Given the description of an element on the screen output the (x, y) to click on. 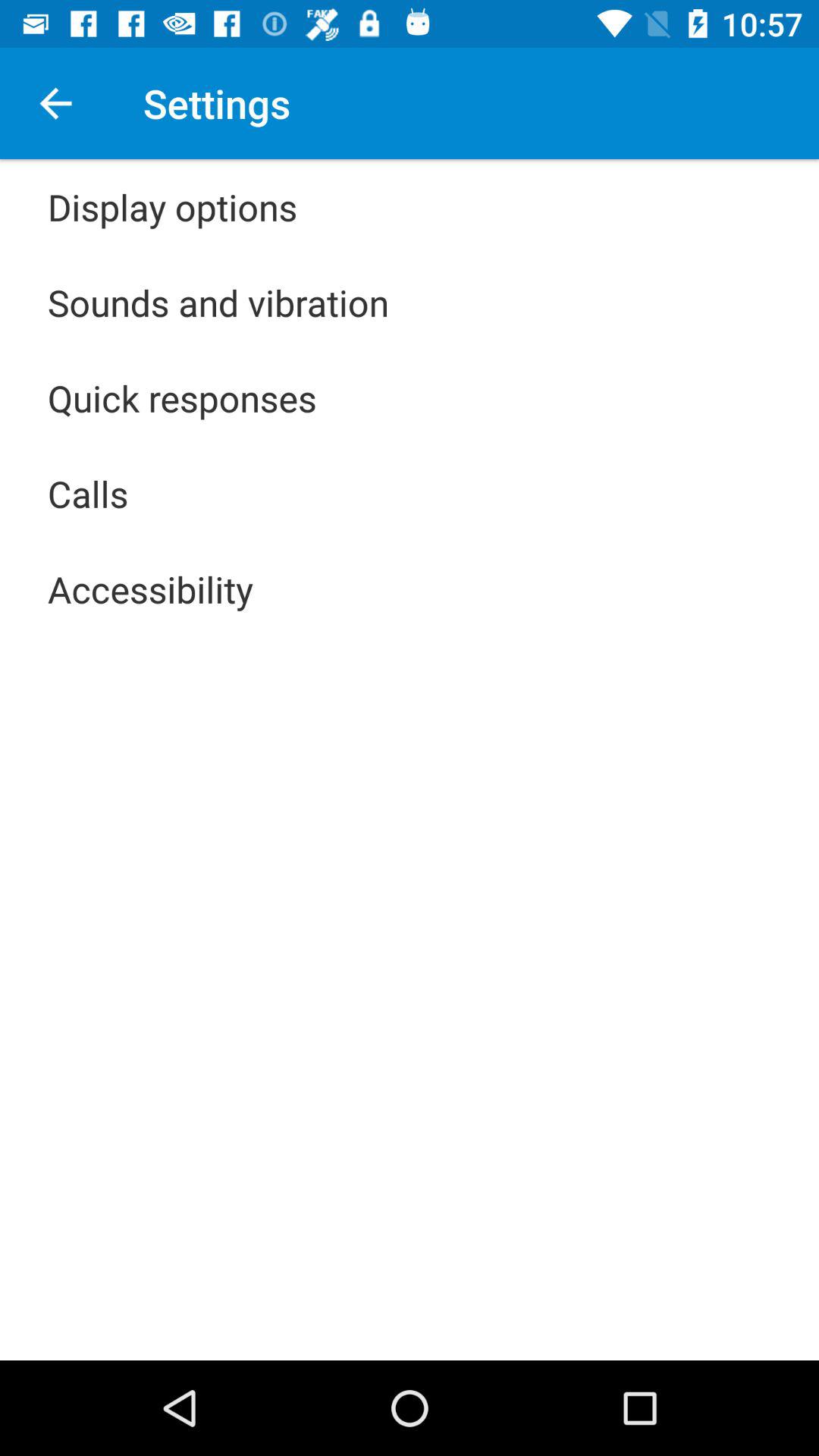
swipe to the accessibility icon (150, 588)
